Given the description of an element on the screen output the (x, y) to click on. 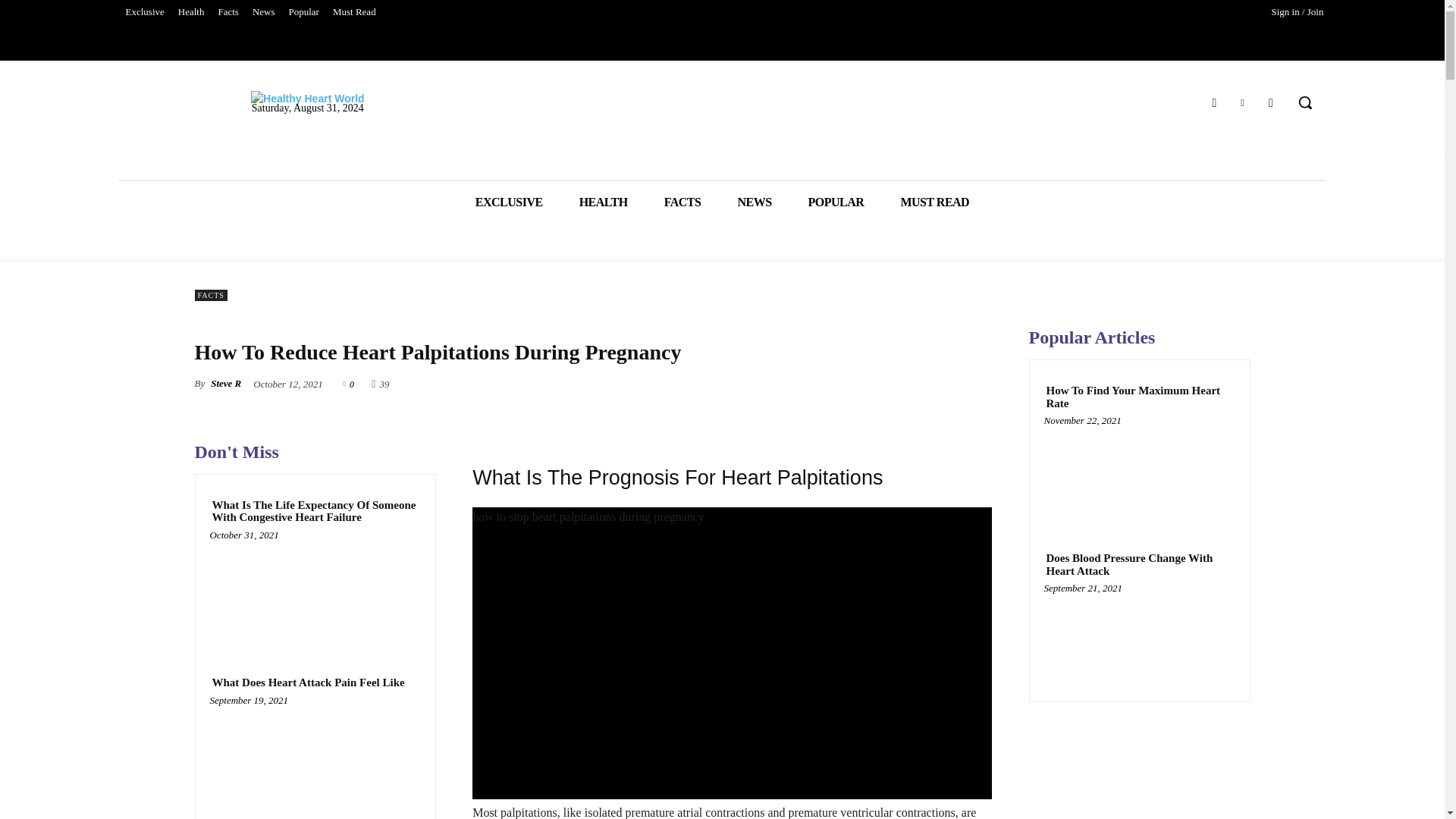
FACTS (682, 201)
Must Read (354, 12)
Twitter (1241, 102)
Facebook (1214, 102)
Facts (227, 12)
Popular (302, 12)
Youtube (1270, 102)
MUST READ (934, 201)
NEWS (754, 201)
